Given the description of an element on the screen output the (x, y) to click on. 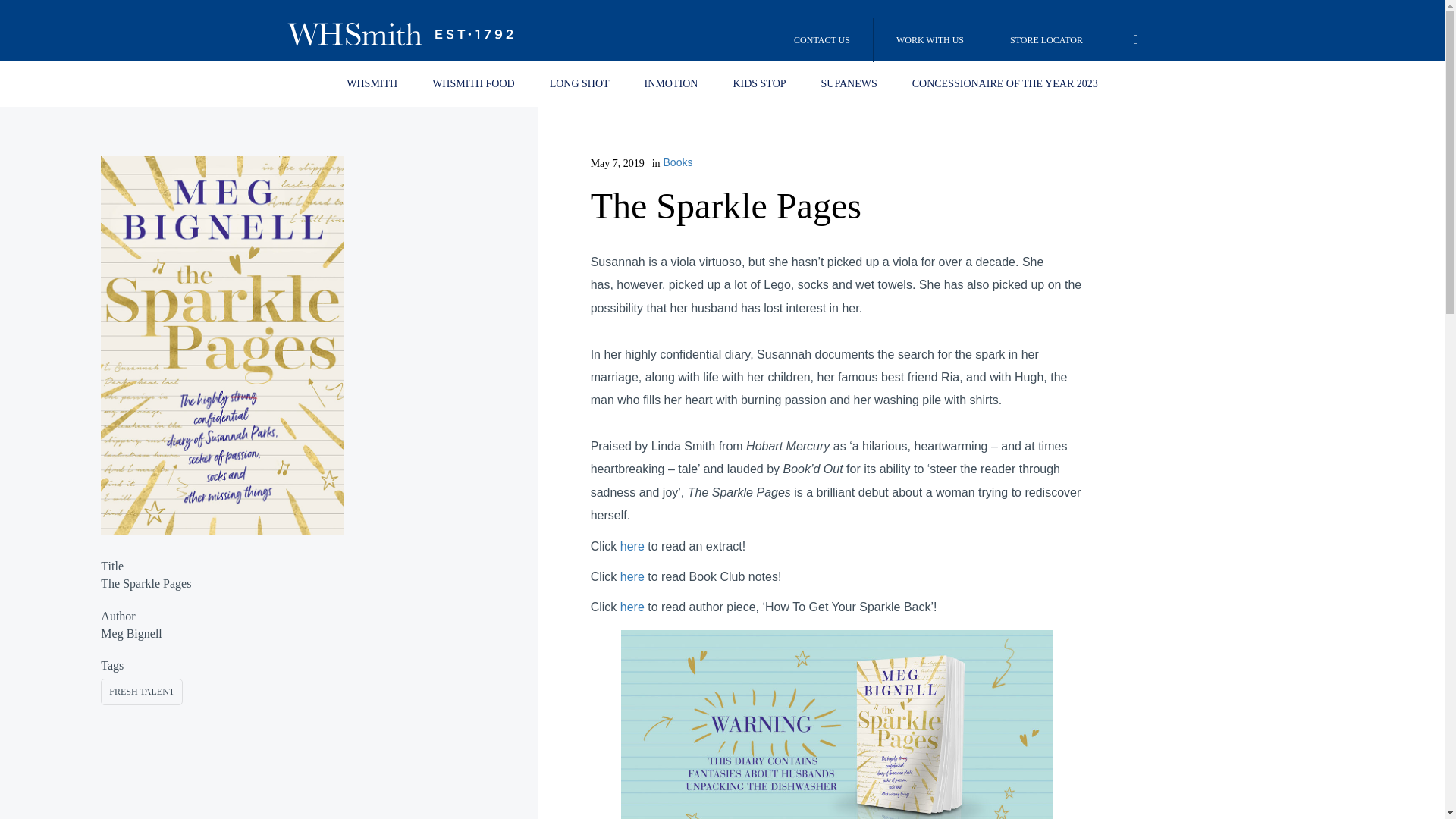
CONTACT US (822, 40)
KIDS STOP (758, 84)
SUPANEWS (849, 84)
CONCESSIONAIRE OF THE YEAR 2023 (1005, 84)
WHSMITH FOOD (473, 84)
WHSMITH (371, 84)
here (632, 545)
here (632, 576)
here (632, 606)
FRESH TALENT (141, 691)
